Given the description of an element on the screen output the (x, y) to click on. 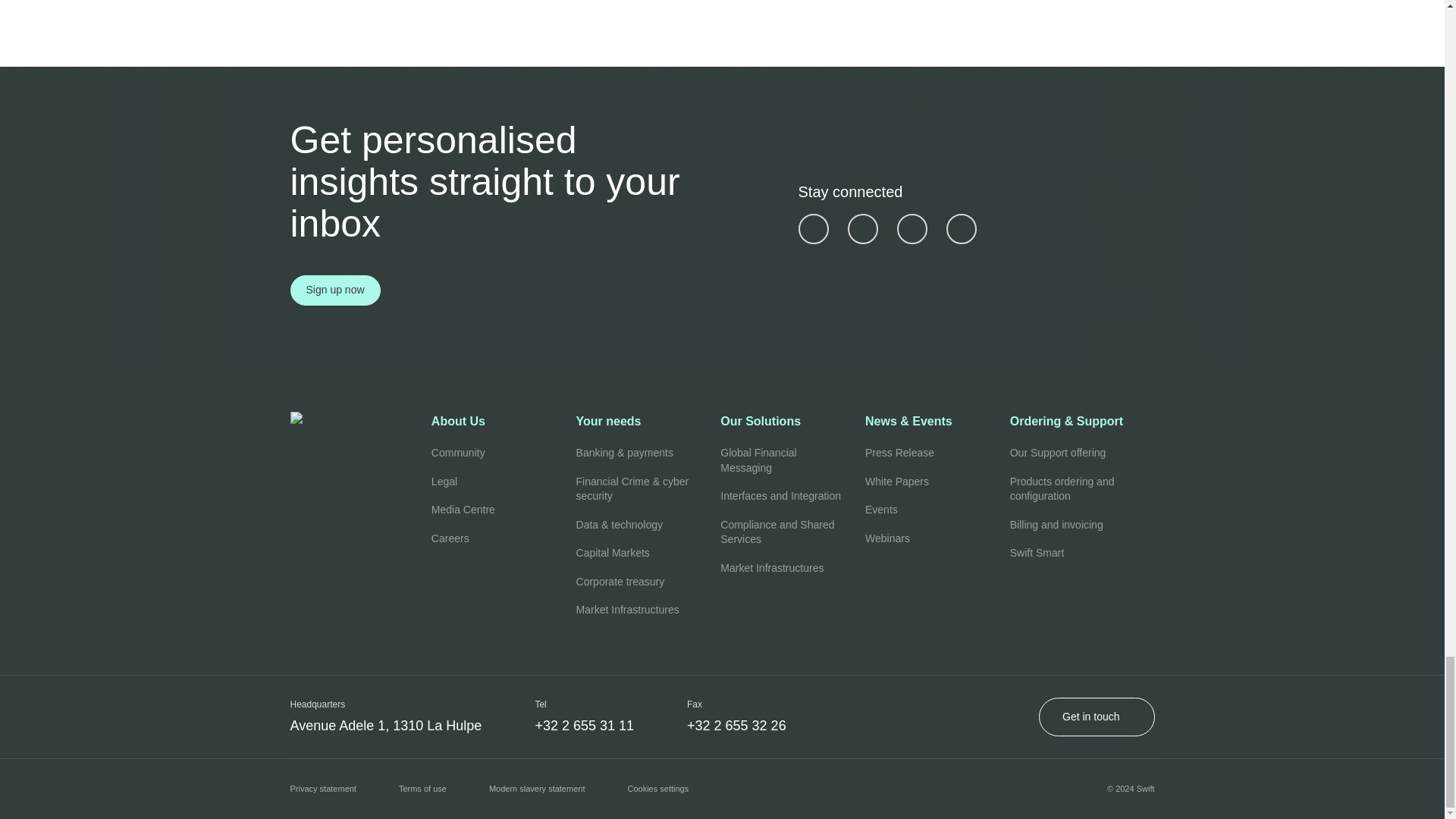
Swift footer logo (359, 430)
